Given the description of an element on the screen output the (x, y) to click on. 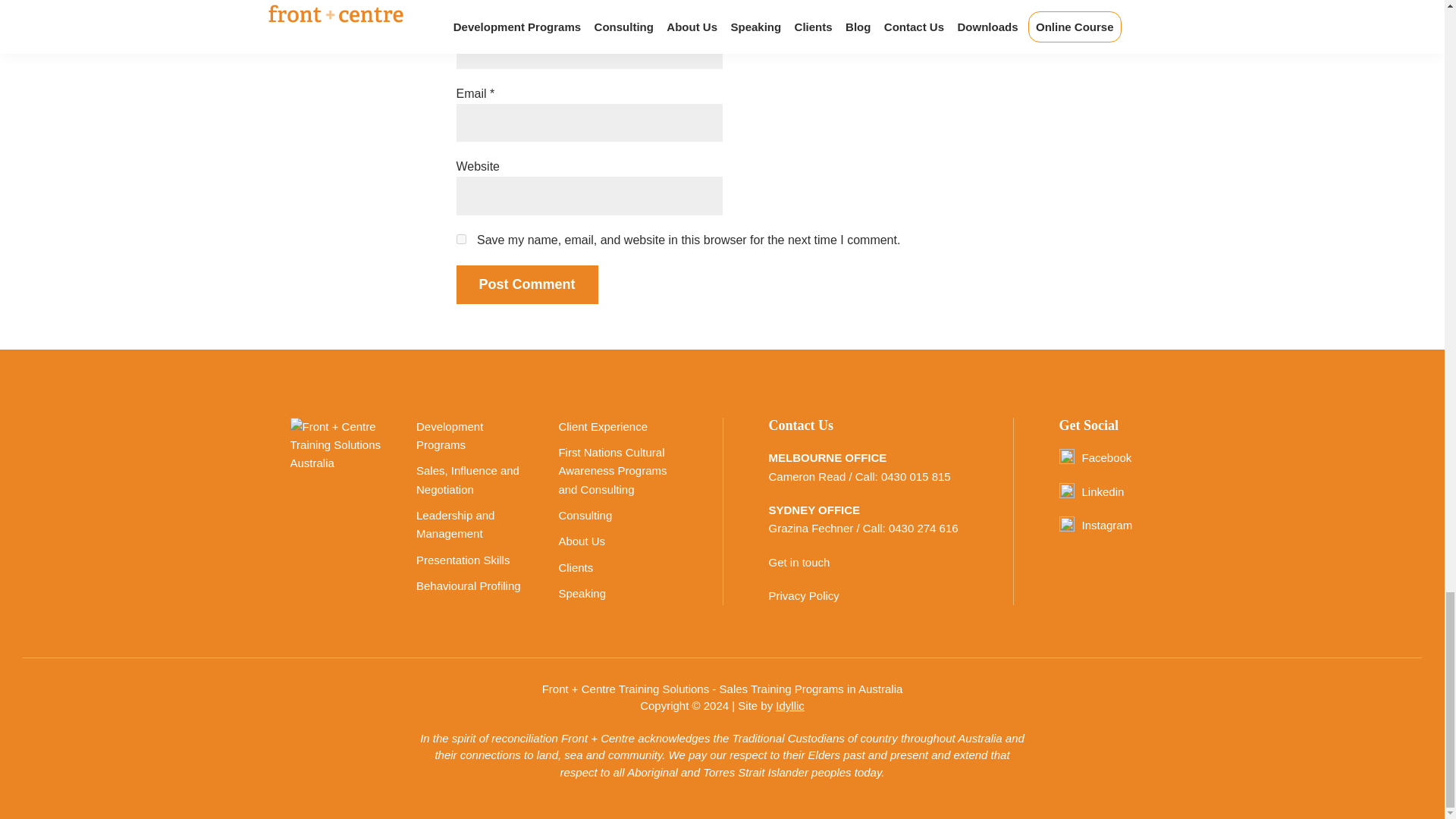
Post Comment (527, 284)
Post Comment (527, 284)
yes (461, 239)
